Given the description of an element on the screen output the (x, y) to click on. 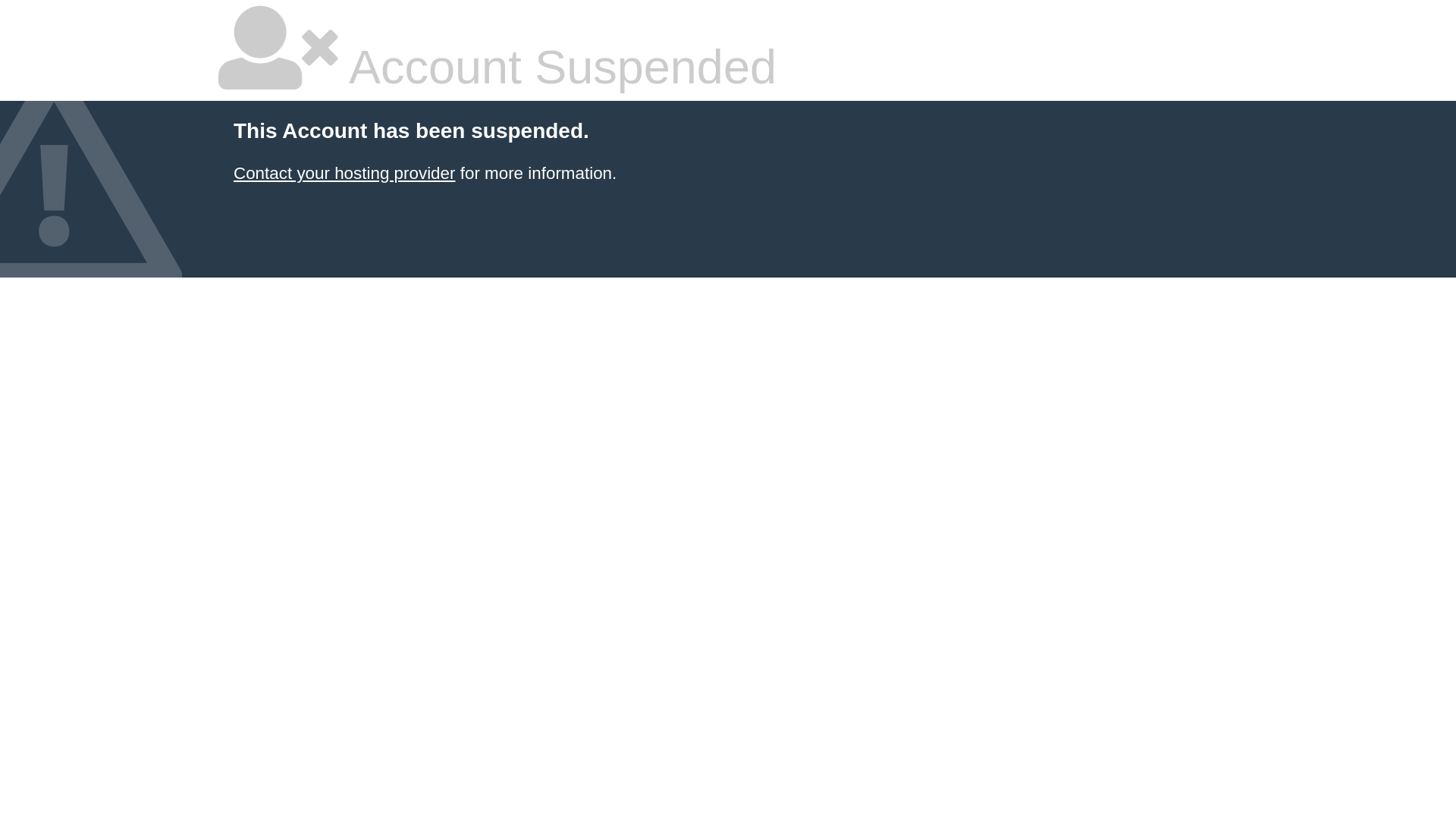
Contact your hosting provider Element type: text (344, 172)
